Given the description of an element on the screen output the (x, y) to click on. 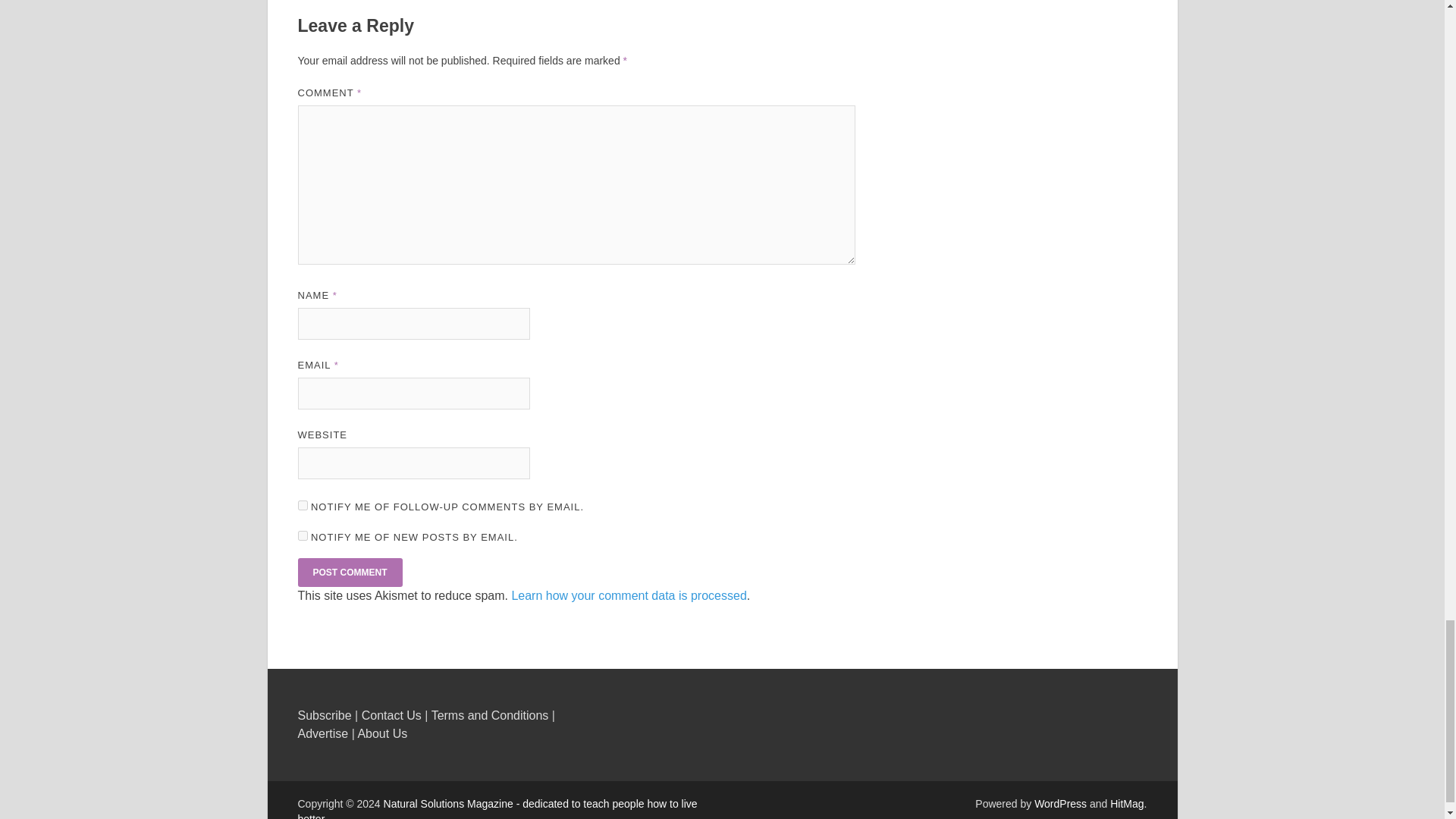
subscribe (302, 535)
subscribe (302, 505)
HitMag WordPress Theme (1125, 803)
WordPress (1059, 803)
Post Comment (349, 572)
